Given the description of an element on the screen output the (x, y) to click on. 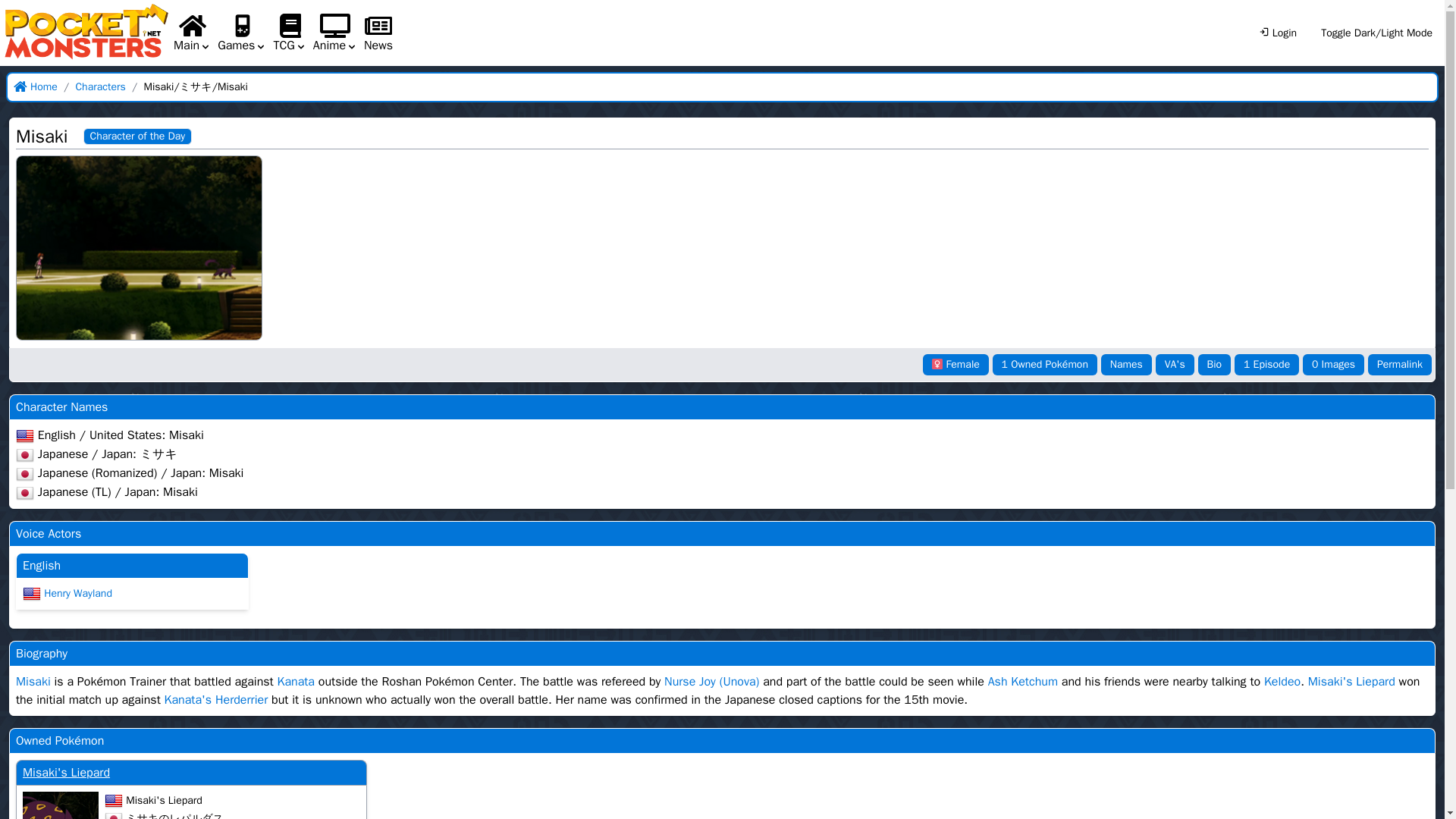
Games (241, 33)
News (378, 45)
Anime (335, 33)
Login (1277, 32)
Main (192, 33)
Flag for United States (31, 593)
